Given the description of an element on the screen output the (x, y) to click on. 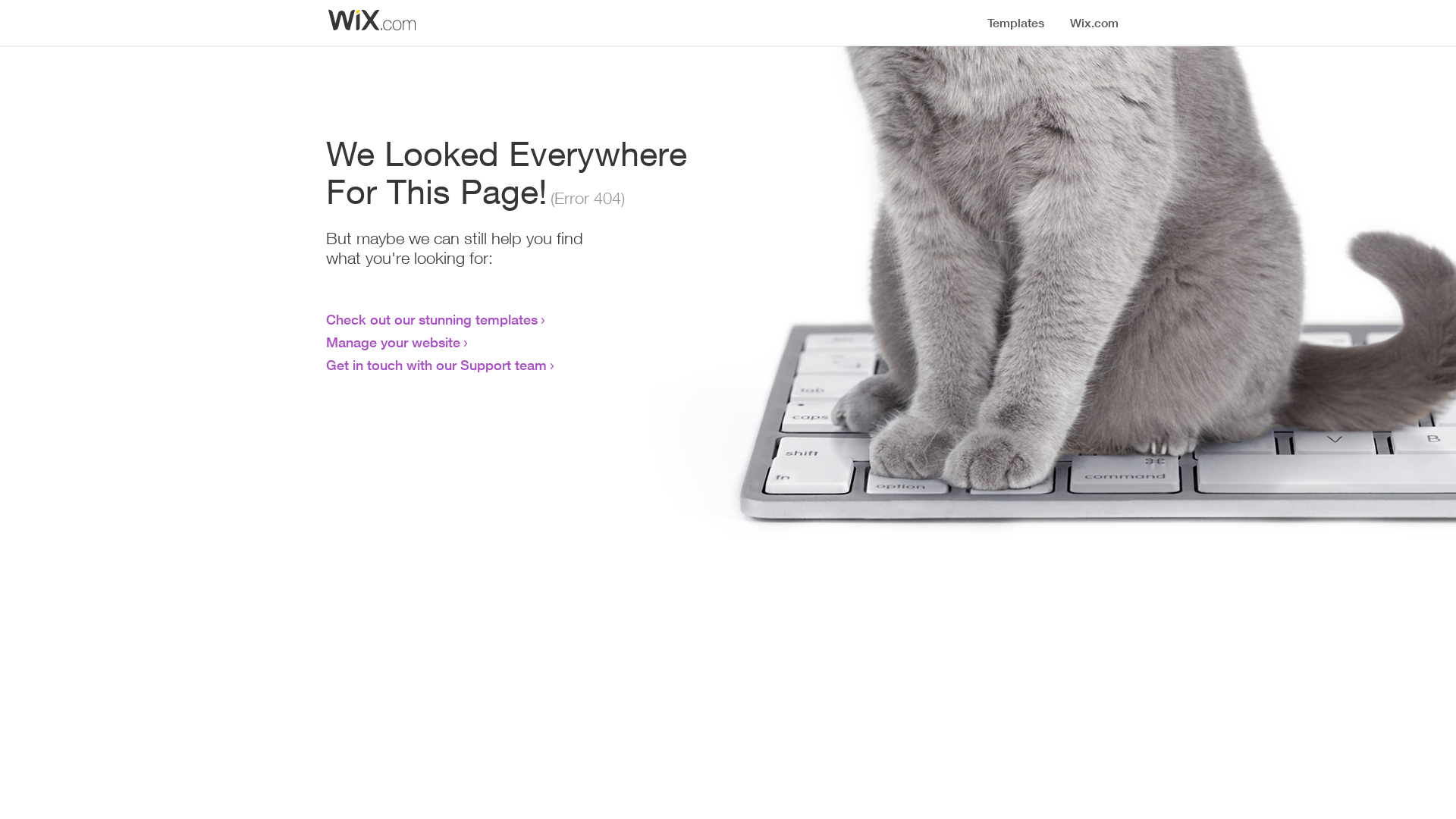
Manage your website Element type: text (393, 341)
Check out our stunning templates Element type: text (431, 318)
Get in touch with our Support team Element type: text (436, 364)
